Given the description of an element on the screen output the (x, y) to click on. 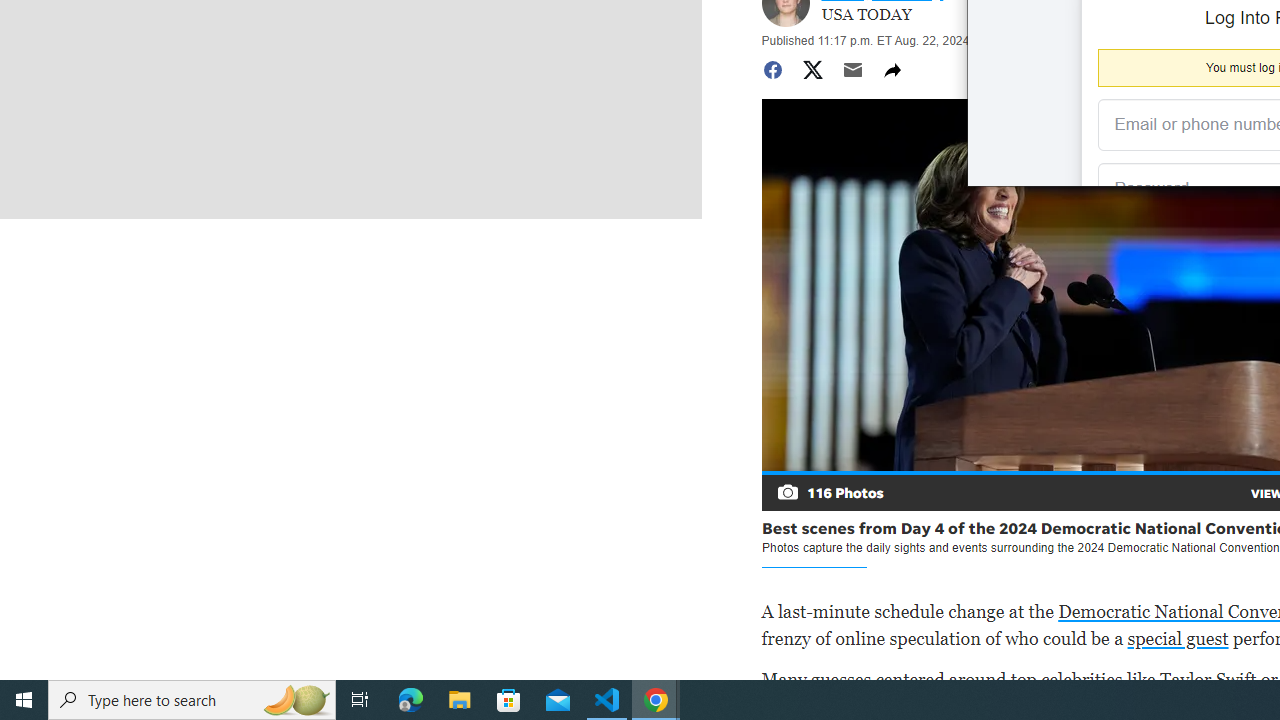
special guest (1177, 637)
File Explorer (460, 699)
Google Chrome - 2 running windows (656, 699)
Microsoft Edge (411, 699)
Share by email (852, 69)
Taylor Swift (1207, 678)
Search highlights icon opens search home window (295, 699)
Share to Twitter (812, 69)
Share to Facebook (772, 69)
Type here to search (191, 699)
Share natively (891, 69)
Visual Studio Code - 1 running window (607, 699)
Task View (359, 699)
